Given the description of an element on the screen output the (x, y) to click on. 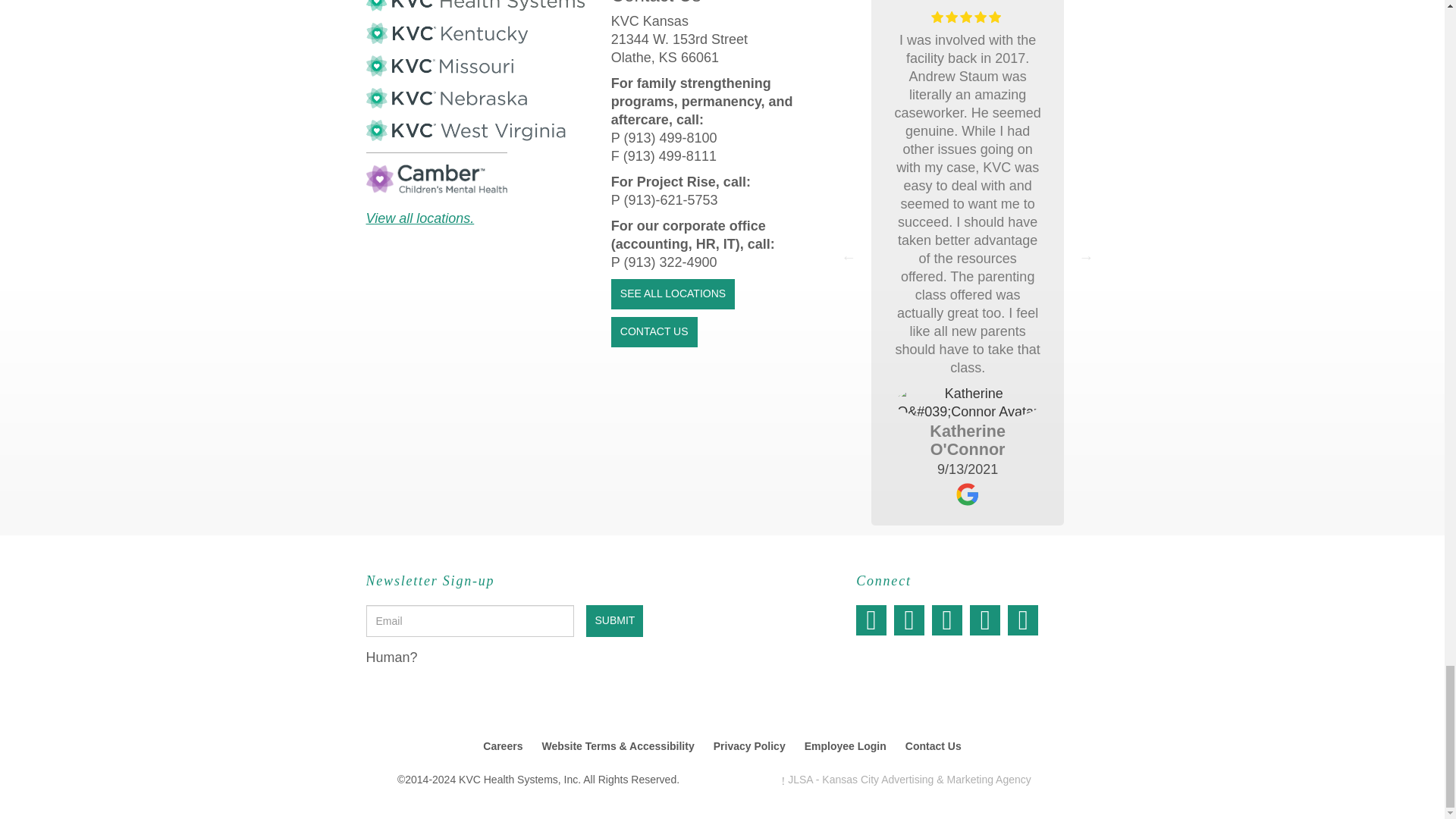
Submit (614, 621)
